Given the description of an element on the screen output the (x, y) to click on. 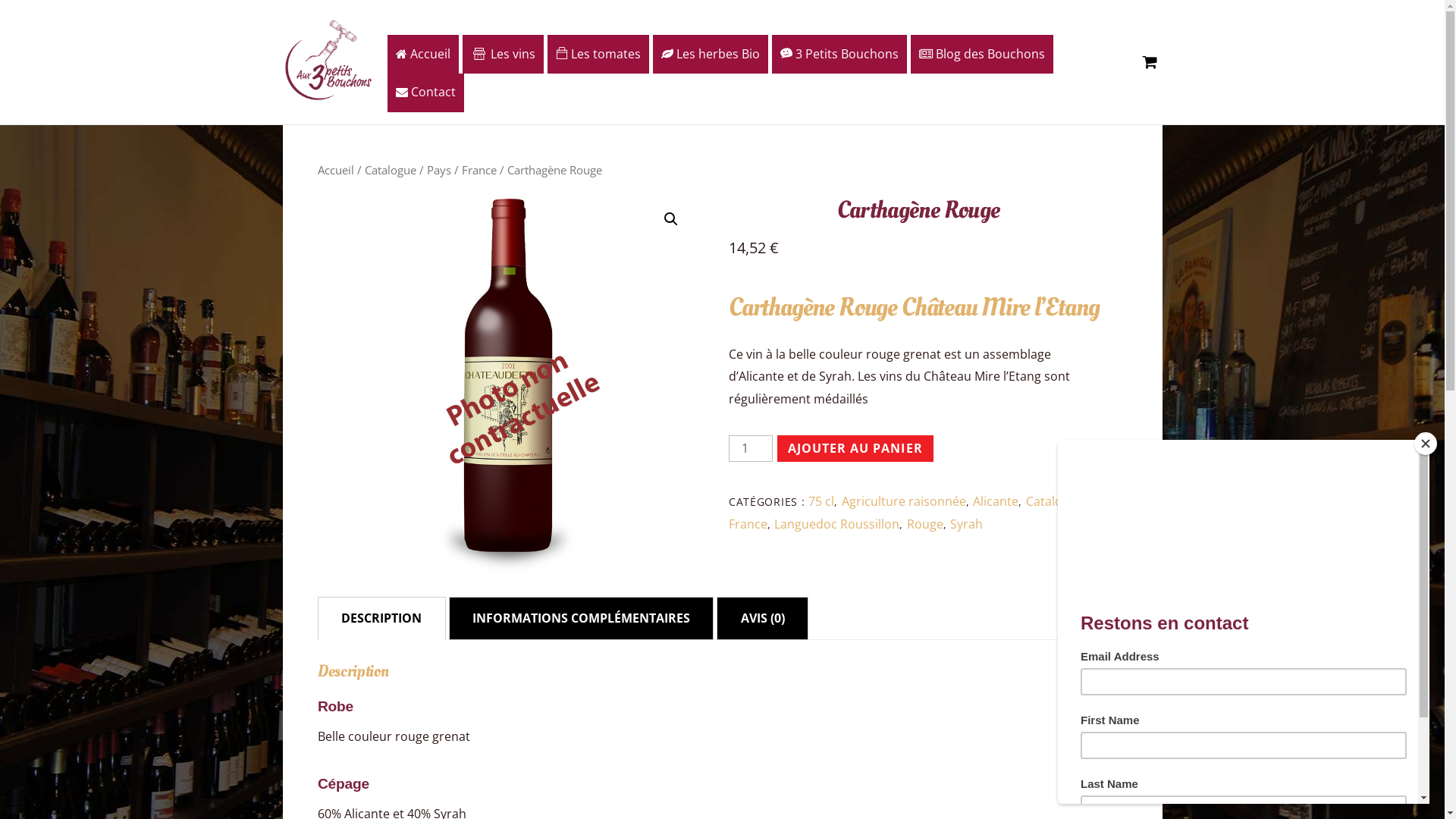
Pays Element type: text (438, 169)
Aux 3 Petits Bouchons Element type: hover (327, 59)
Blog des Bouchons Element type: text (981, 53)
DESCRIPTION Element type: text (381, 618)
Les tomates Element type: text (598, 53)
3 Petits Bouchons Element type: text (838, 53)
Accueil Element type: text (422, 53)
Les vins Element type: text (502, 53)
Aux 3 Petits Bouchons Element type: hover (327, 94)
Catalogue Element type: text (1054, 500)
Rouge Element type: text (924, 523)
75 cl Element type: text (821, 500)
AJOUTER AU PANIER Element type: text (855, 448)
non-contractuelle Element type: hover (506, 382)
France Element type: text (478, 169)
Syrah Element type: text (966, 523)
AVIS (0) Element type: text (762, 618)
Contact Element type: text (425, 92)
Accueil Element type: text (335, 169)
Languedoc Roussillon Element type: text (836, 523)
Les herbes Bio Element type: text (710, 53)
France Element type: text (747, 523)
Catalogue Element type: text (390, 169)
Alicante Element type: text (995, 500)
